Given the description of an element on the screen output the (x, y) to click on. 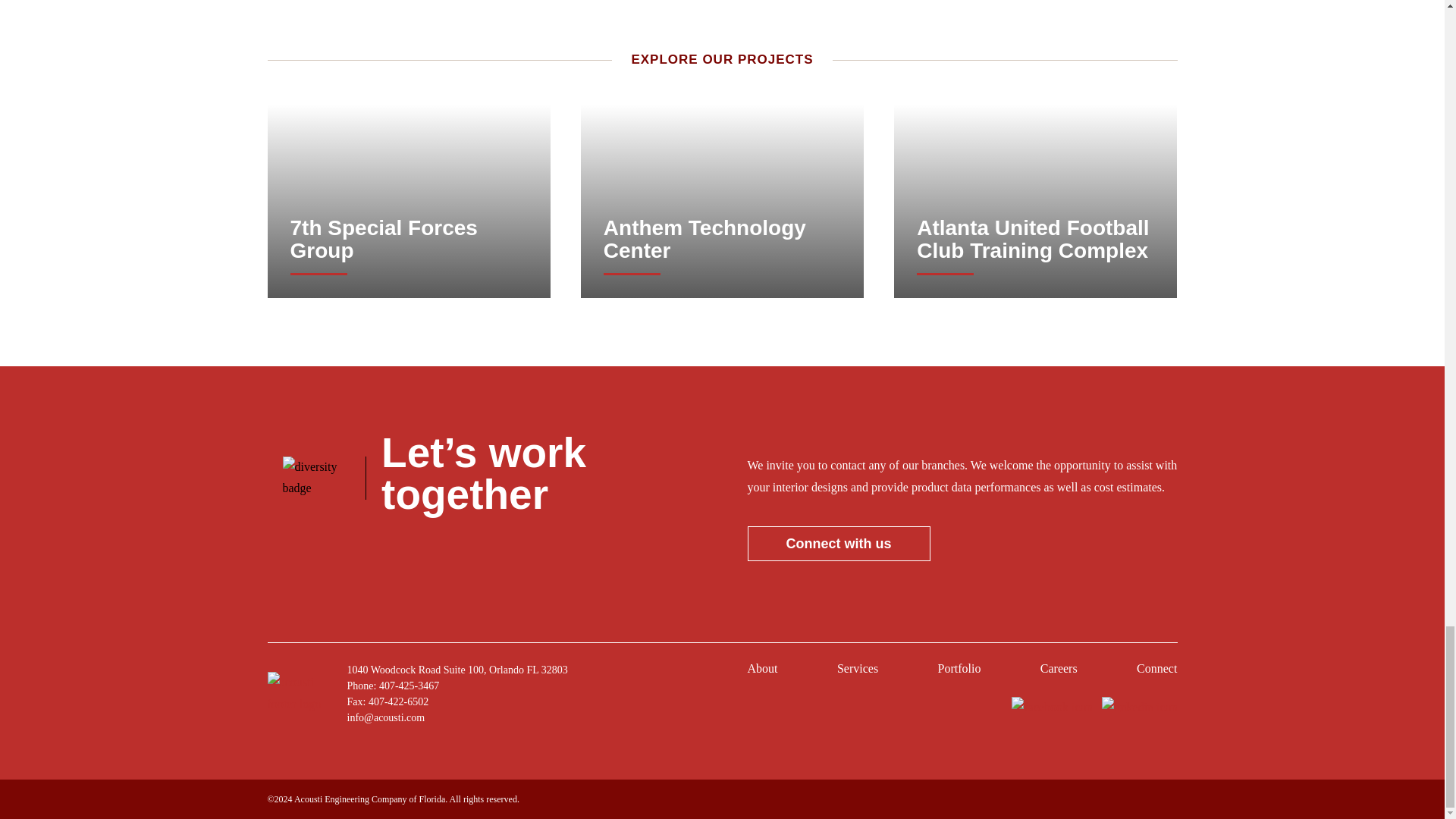
Anthem Technology Center (722, 240)
Services (857, 672)
407-425-3467 (408, 685)
7th Special Forces Group (408, 240)
Atlanta United Football Club Training Complex (1035, 240)
About (762, 672)
Connect with us (839, 543)
Portfolio (959, 672)
